Given the description of an element on the screen output the (x, y) to click on. 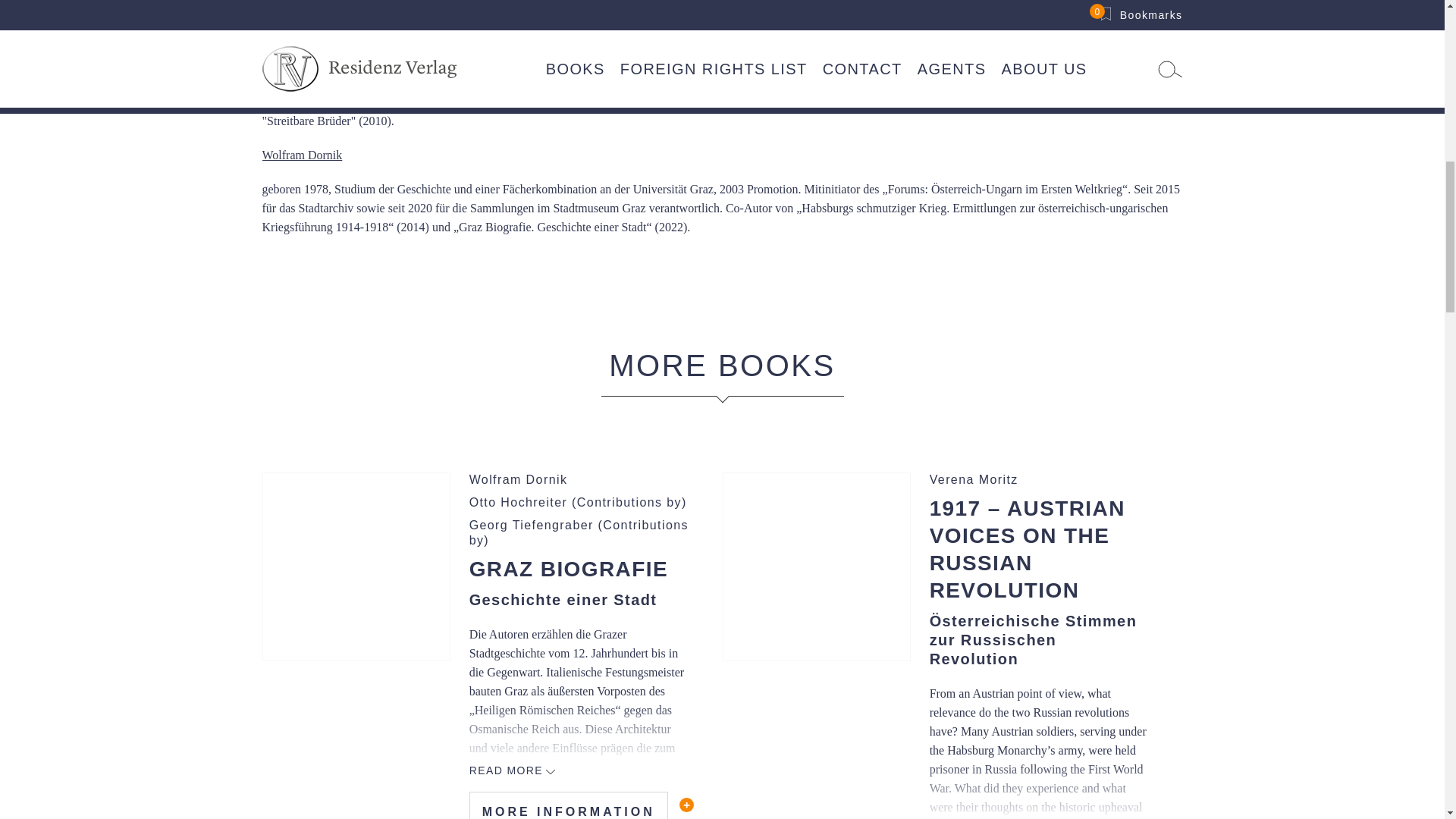
Zum Autor (579, 502)
Zum Buch (568, 805)
Zum Autor (579, 548)
Zum Autor (579, 479)
More Information (568, 568)
Zum Buch (356, 566)
